Given the description of an element on the screen output the (x, y) to click on. 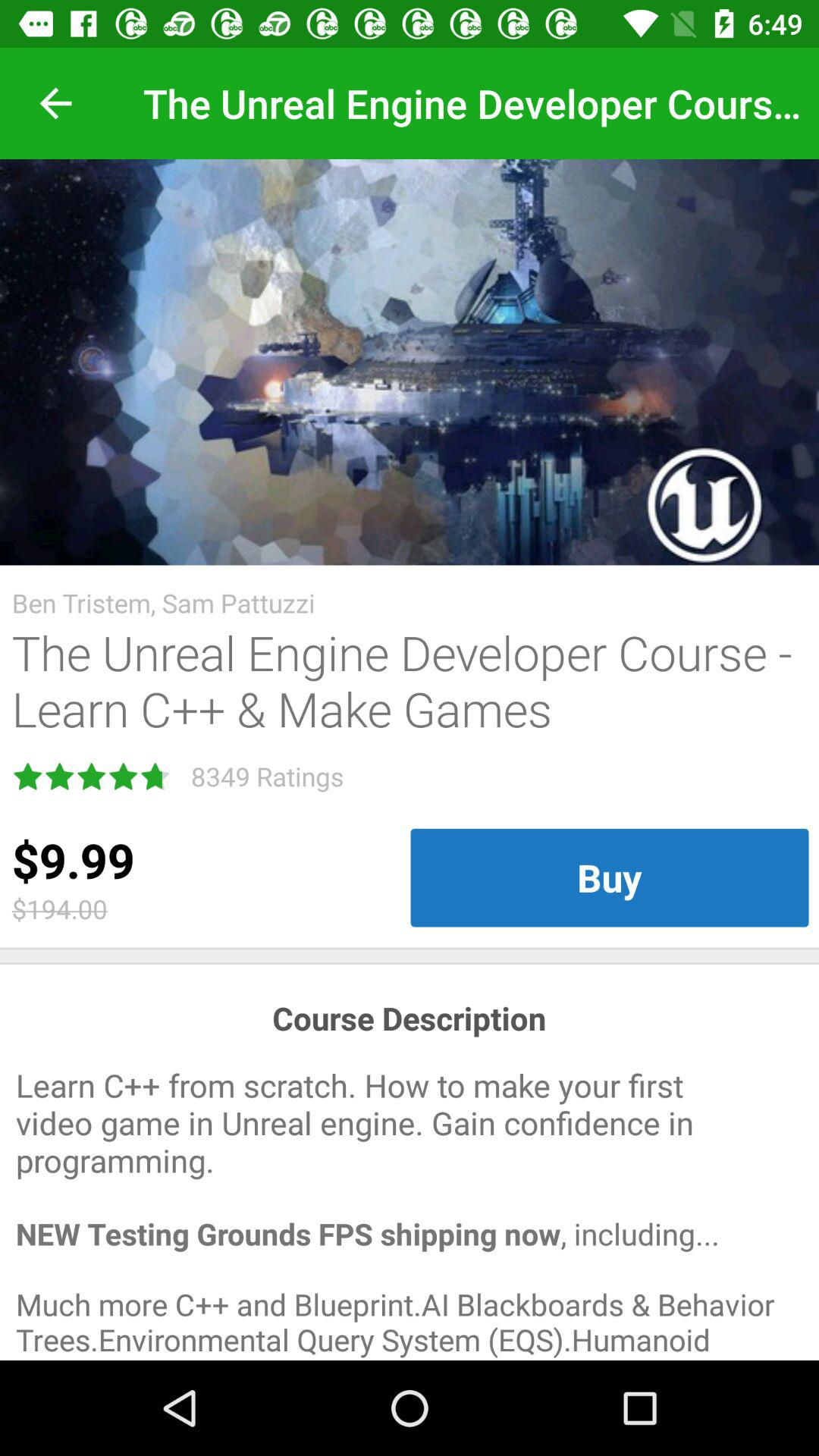
turn off icon next to the unreal engine (55, 103)
